Given the description of an element on the screen output the (x, y) to click on. 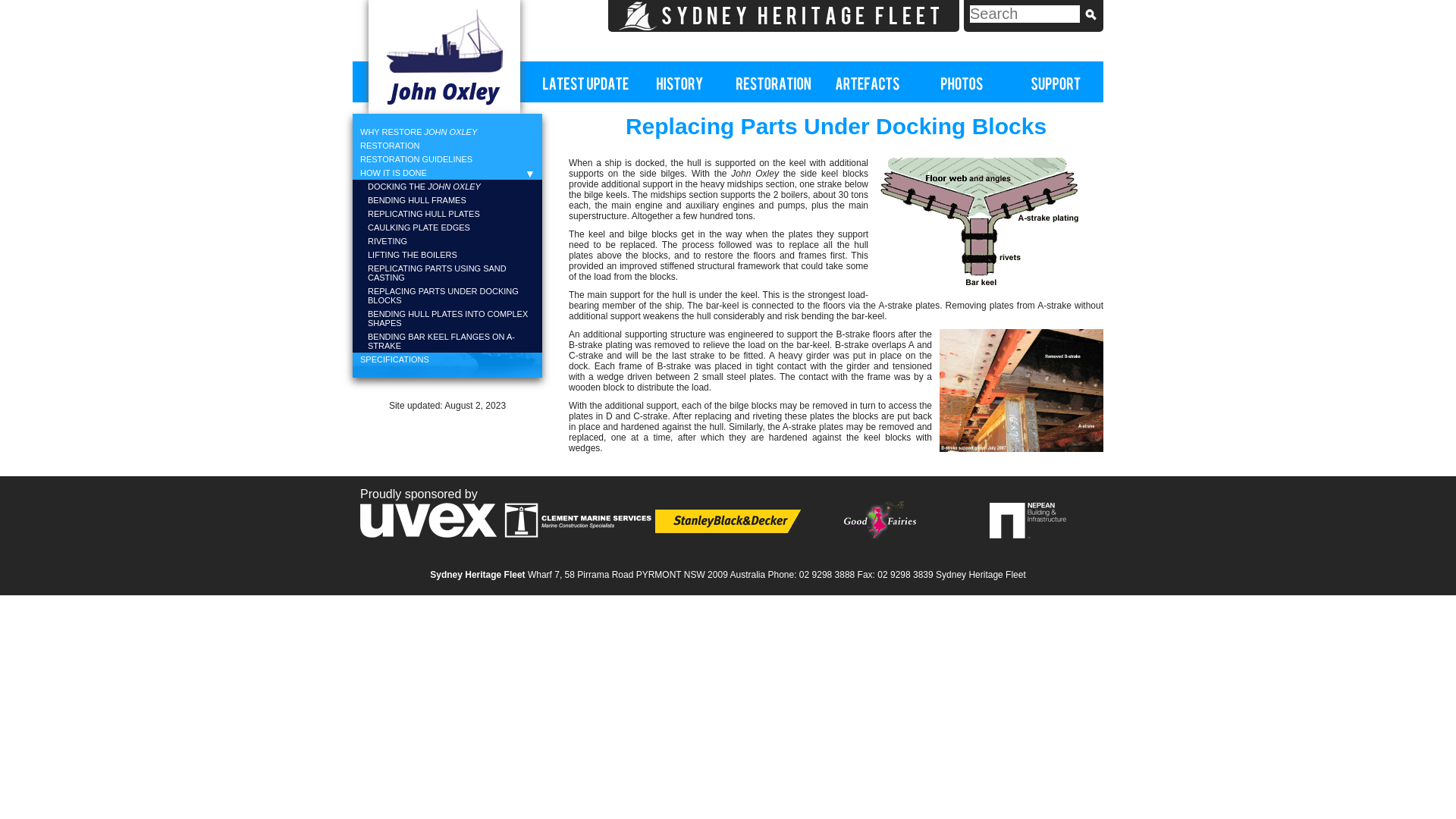
CAULKING PLATE EDGES Element type: text (447, 227)
DOCKING THE JOHN OXLEY Element type: text (447, 186)
HOW IT IS DONE Element type: text (447, 172)
Sydney Heritage Fleet Element type: text (980, 574)
Sydney Heritage Fleet Element type: text (783, 15)
REPLACING PARTS UNDER DOCKING BLOCKS Element type: text (447, 295)
BENDING HULL FRAMES Element type: text (447, 200)
REPLICATING PARTS USING SAND CASTING Element type: text (447, 272)
RIVETING Element type: text (447, 240)
BENDING HULL PLATES INTO COMPLEX SHAPES Element type: text (447, 318)
RESTORATION GUIDELINES Element type: text (447, 159)
BENDING BAR KEEL FLANGES ON A-STRAKE Element type: text (447, 340)
REPLICATING HULL PLATES Element type: text (447, 213)
LIFTING THE BOILERS Element type: text (447, 254)
RESTORATION Element type: text (447, 145)
WHY RESTORE JOHN OXLEY Element type: text (447, 131)
SPECIFICATIONS Element type: text (447, 359)
